Given the description of an element on the screen output the (x, y) to click on. 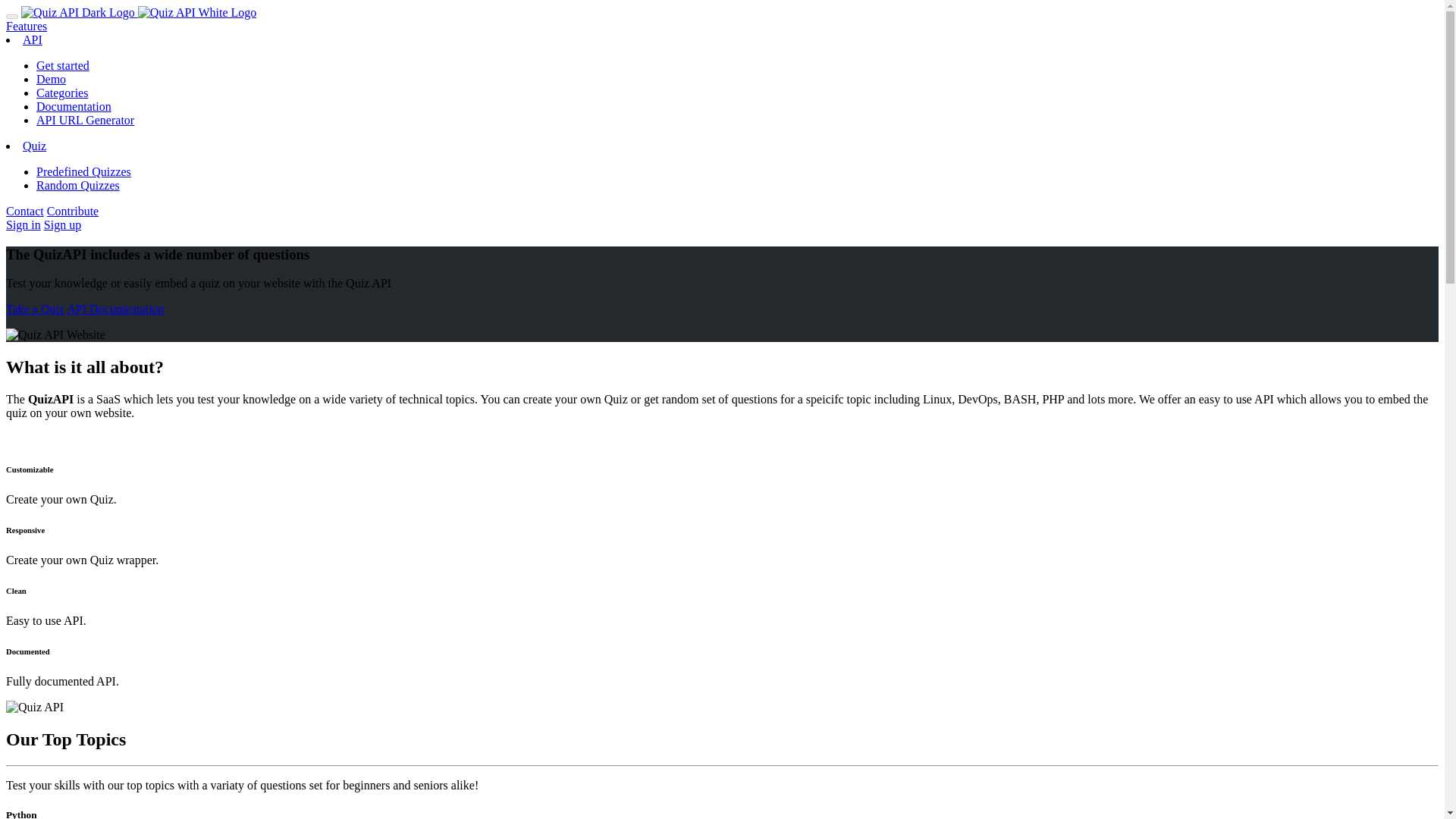
API (32, 39)
Sign up (62, 224)
API URL Generator (84, 119)
Demo (50, 78)
Predefined Quizzes (83, 171)
Contact (24, 210)
Random Quizzes (77, 185)
Documentation (74, 106)
Contribute (72, 210)
Get started (62, 65)
